Given the description of an element on the screen output the (x, y) to click on. 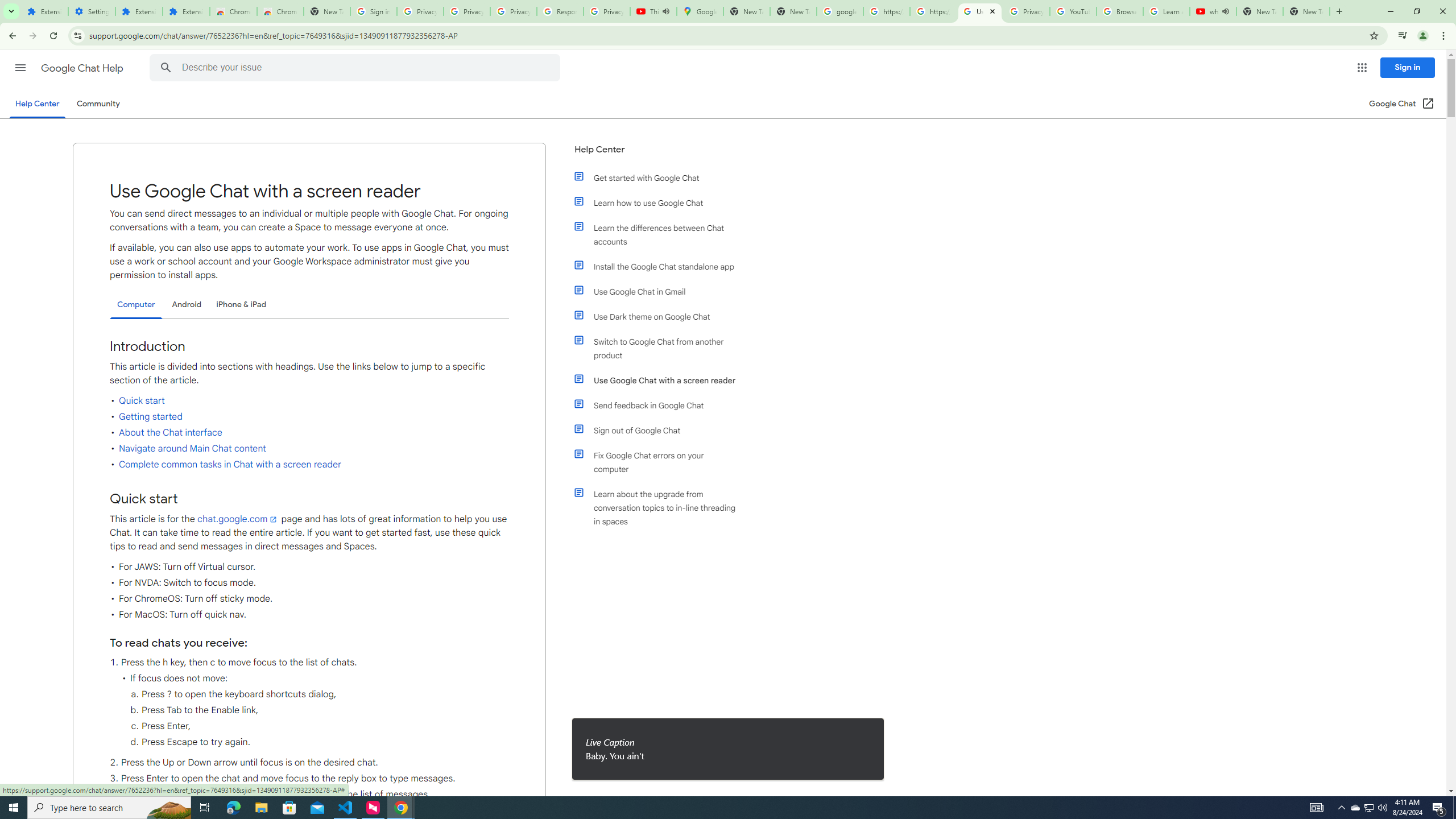
Extensions (44, 11)
Sign out of Google Chat (661, 430)
About the Chat interface (170, 432)
Getting started (150, 416)
https://scholar.google.com/ (886, 11)
Send feedback in Google Chat (661, 405)
New Tab (1306, 11)
https://scholar.google.com/ (933, 11)
Describe your issue (356, 67)
Google Maps (699, 11)
